Given the description of an element on the screen output the (x, y) to click on. 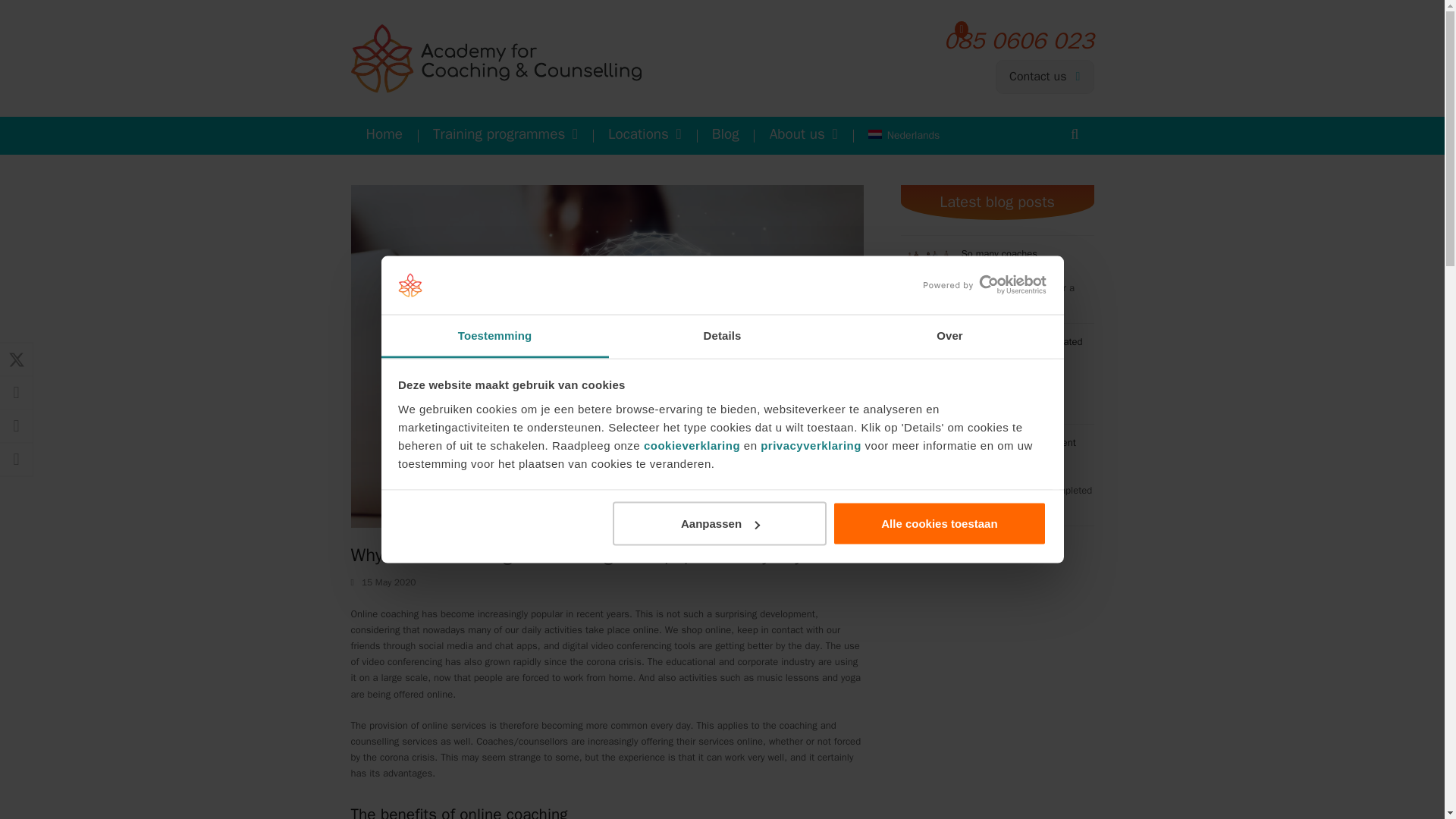
Alle cookies toestaan (939, 524)
Nederlands (904, 135)
Details (721, 335)
privacyverklaring (810, 444)
Aanpassen (719, 524)
Toestemming (494, 335)
cookieverklaring (691, 444)
Over (948, 335)
